Given the description of an element on the screen output the (x, y) to click on. 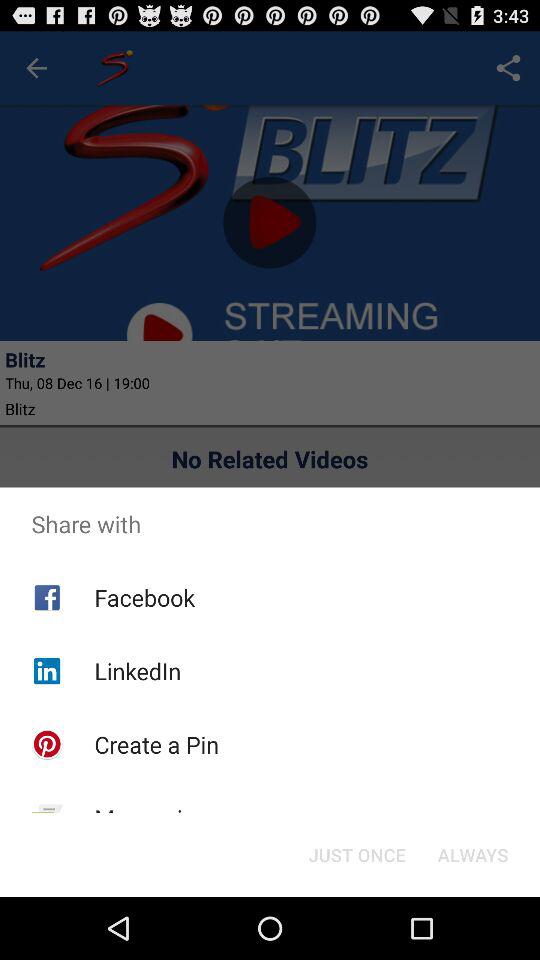
choose the linkedin icon (137, 670)
